Given the description of an element on the screen output the (x, y) to click on. 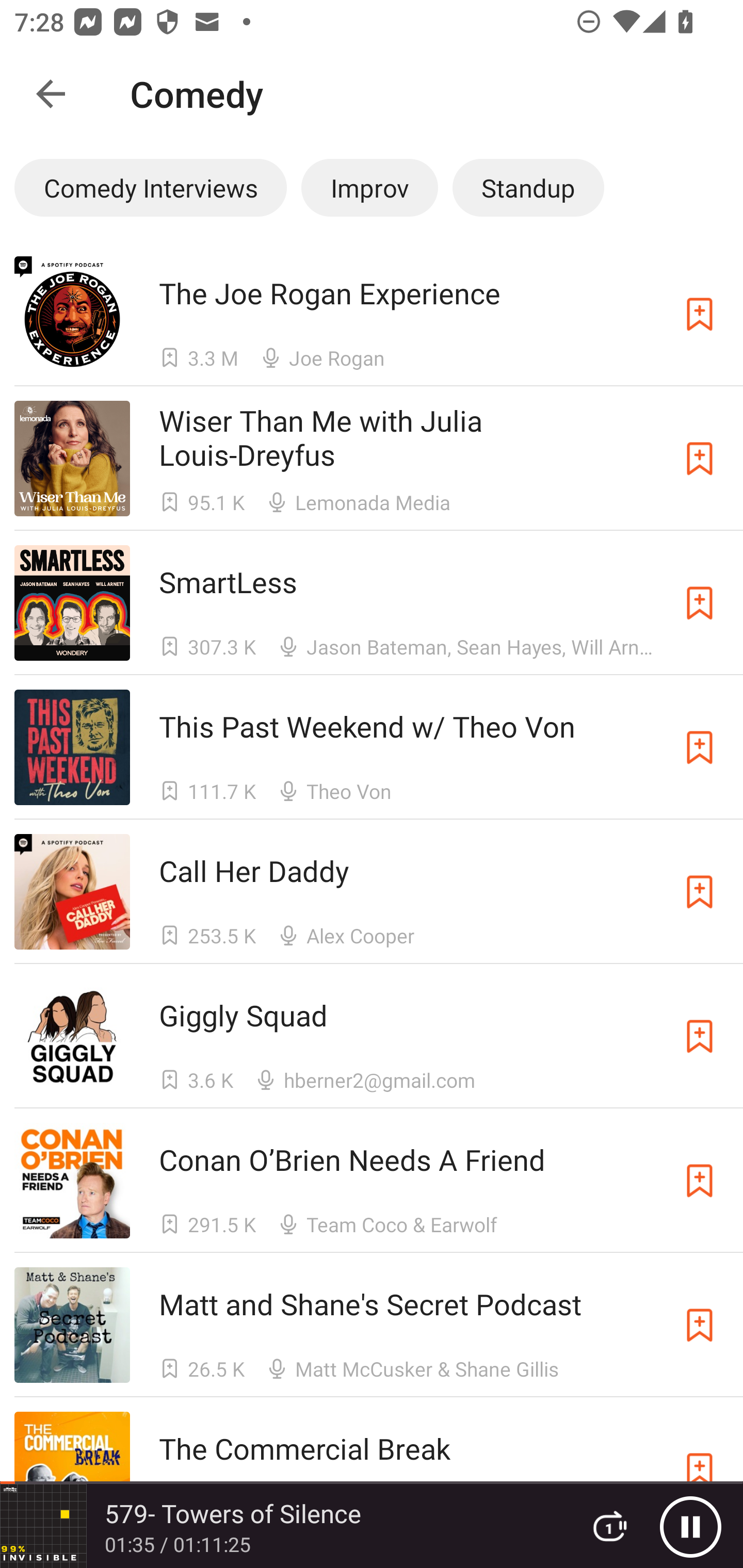
Navigate up (50, 93)
Comedy Interviews (150, 187)
Improv (369, 187)
Standup (528, 187)
Subscribe (699, 313)
Subscribe (699, 458)
Subscribe (699, 602)
Subscribe (699, 746)
Subscribe (699, 892)
Subscribe (699, 1036)
Subscribe (699, 1180)
Subscribe (699, 1324)
579- Towers of Silence 01:35 / 01:11:25 (283, 1525)
Pause (690, 1526)
